Given the description of an element on the screen output the (x, y) to click on. 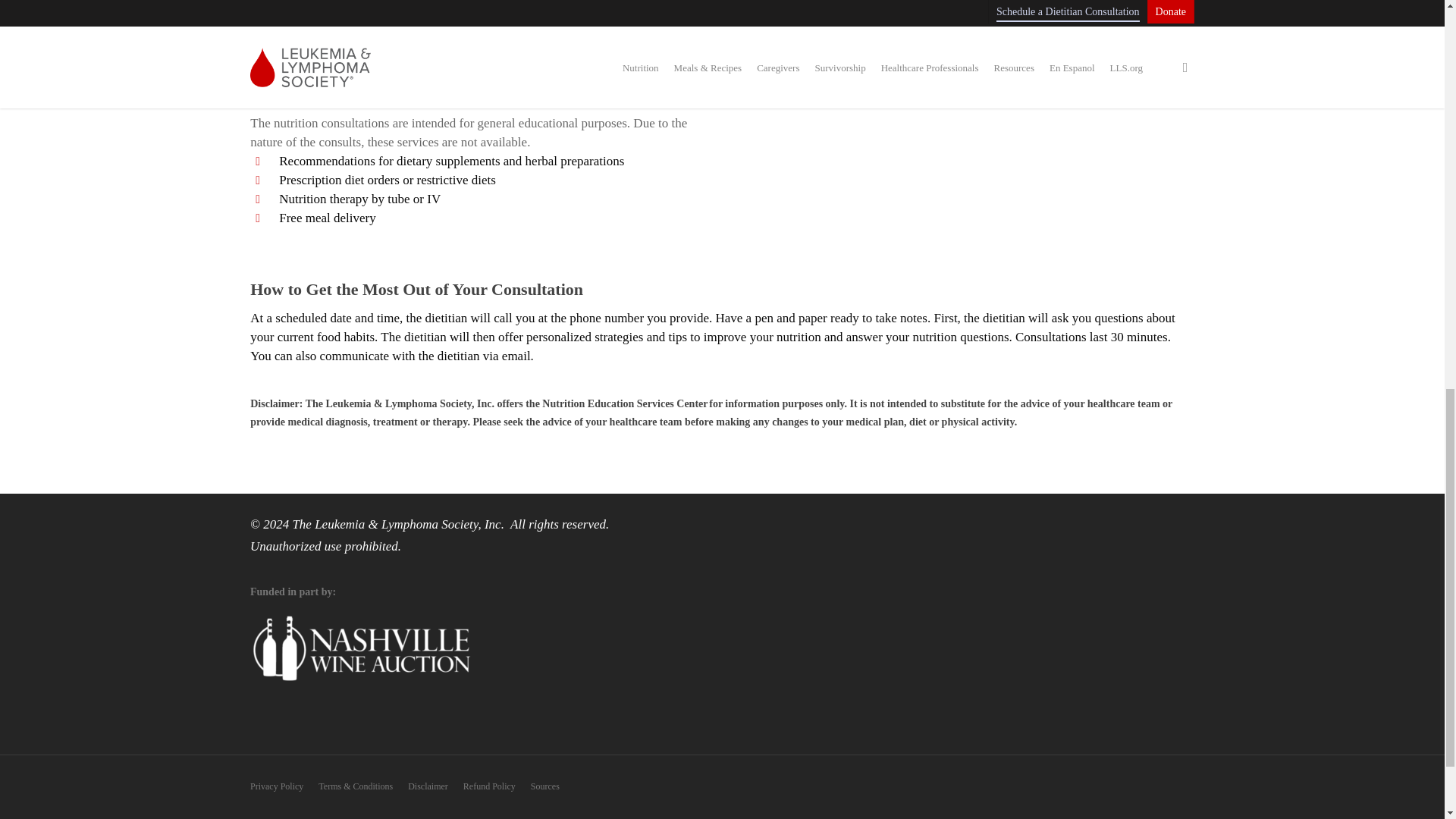
Personalized Nutrition Consultations (962, 73)
